Given the description of an element on the screen output the (x, y) to click on. 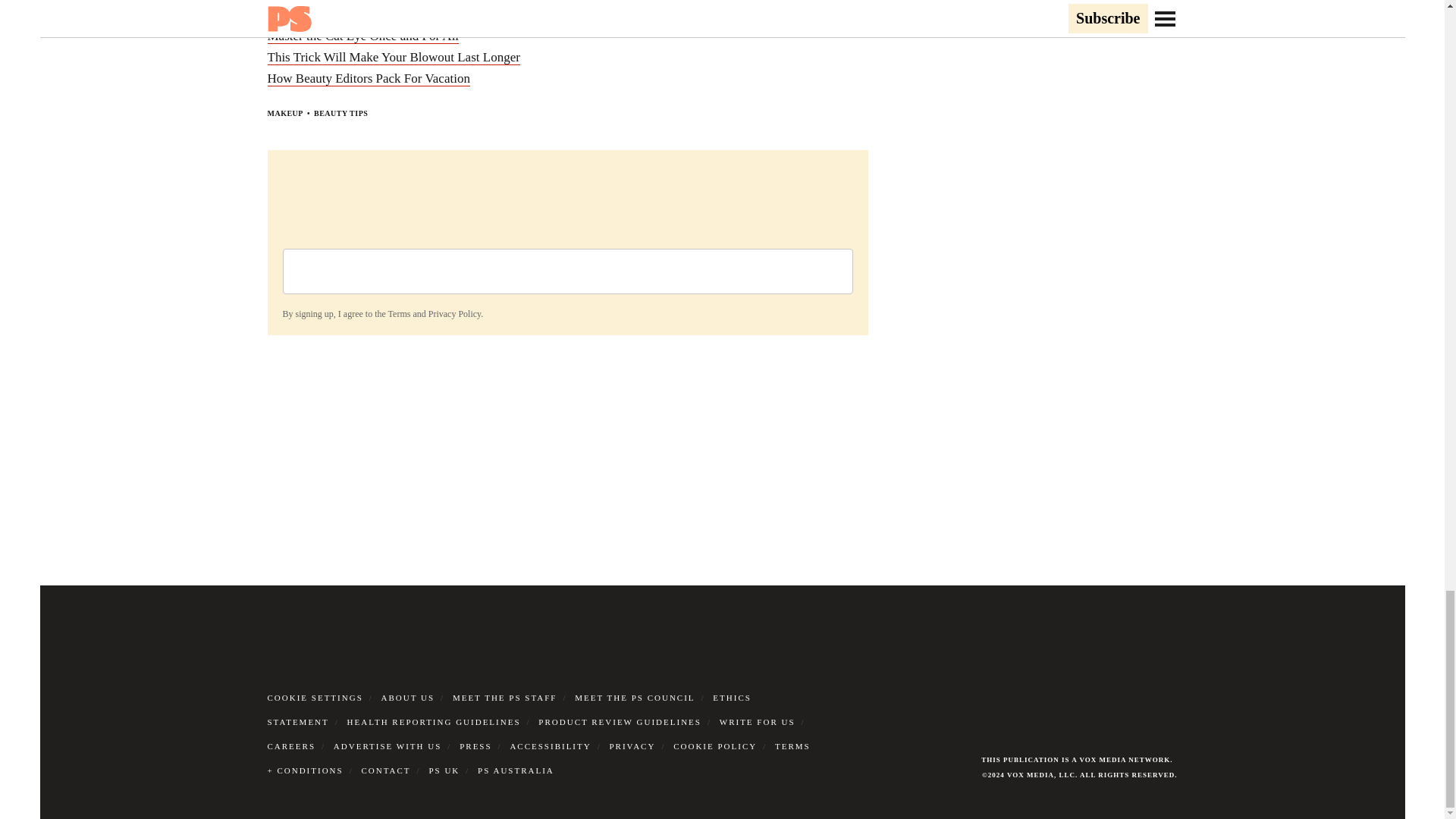
ABOUT US (408, 697)
Master the Cat Eye Once and For All (362, 36)
PRESS (476, 746)
HEALTH REPORTING GUIDELINES (434, 721)
How Beauty Editors Pack For Vacation (367, 78)
PRODUCT REVIEW GUIDELINES (619, 721)
ETHICS STATEMENT (508, 709)
MEET THE PS COUNCIL (634, 697)
CAREERS (290, 746)
ADVERTISE WITH US (387, 746)
Privacy Policy. (455, 313)
Terms (399, 313)
This Trick Will Make Your Blowout Last Longer (392, 57)
MAKEUP (284, 112)
WRITE FOR US (756, 721)
